Given the description of an element on the screen output the (x, y) to click on. 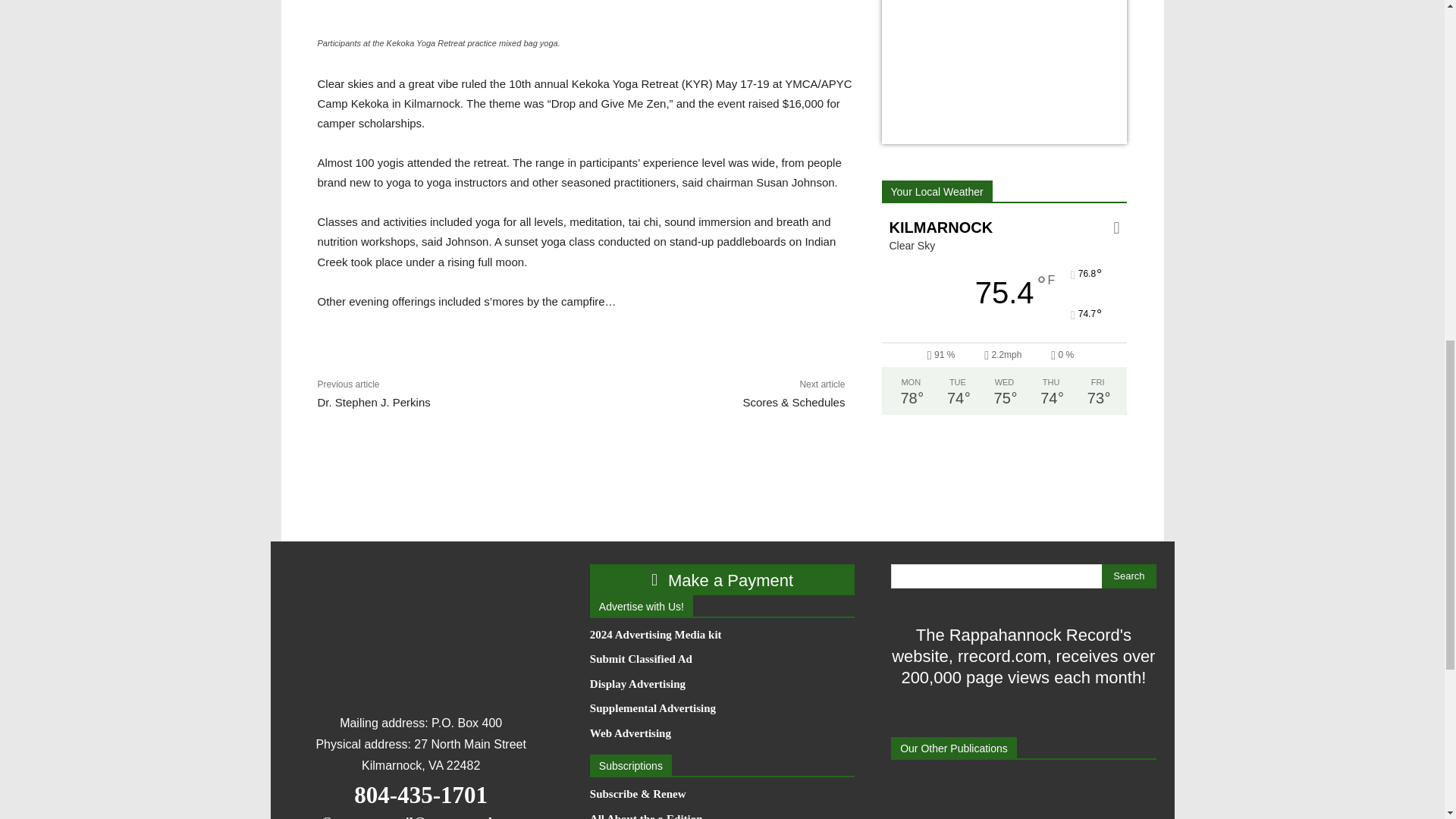
Make a Payment (721, 579)
Dr. Stephen J. Perkins (373, 401)
Make a Payment (721, 579)
2024 Advertising Media kit (721, 635)
